Given the description of an element on the screen output the (x, y) to click on. 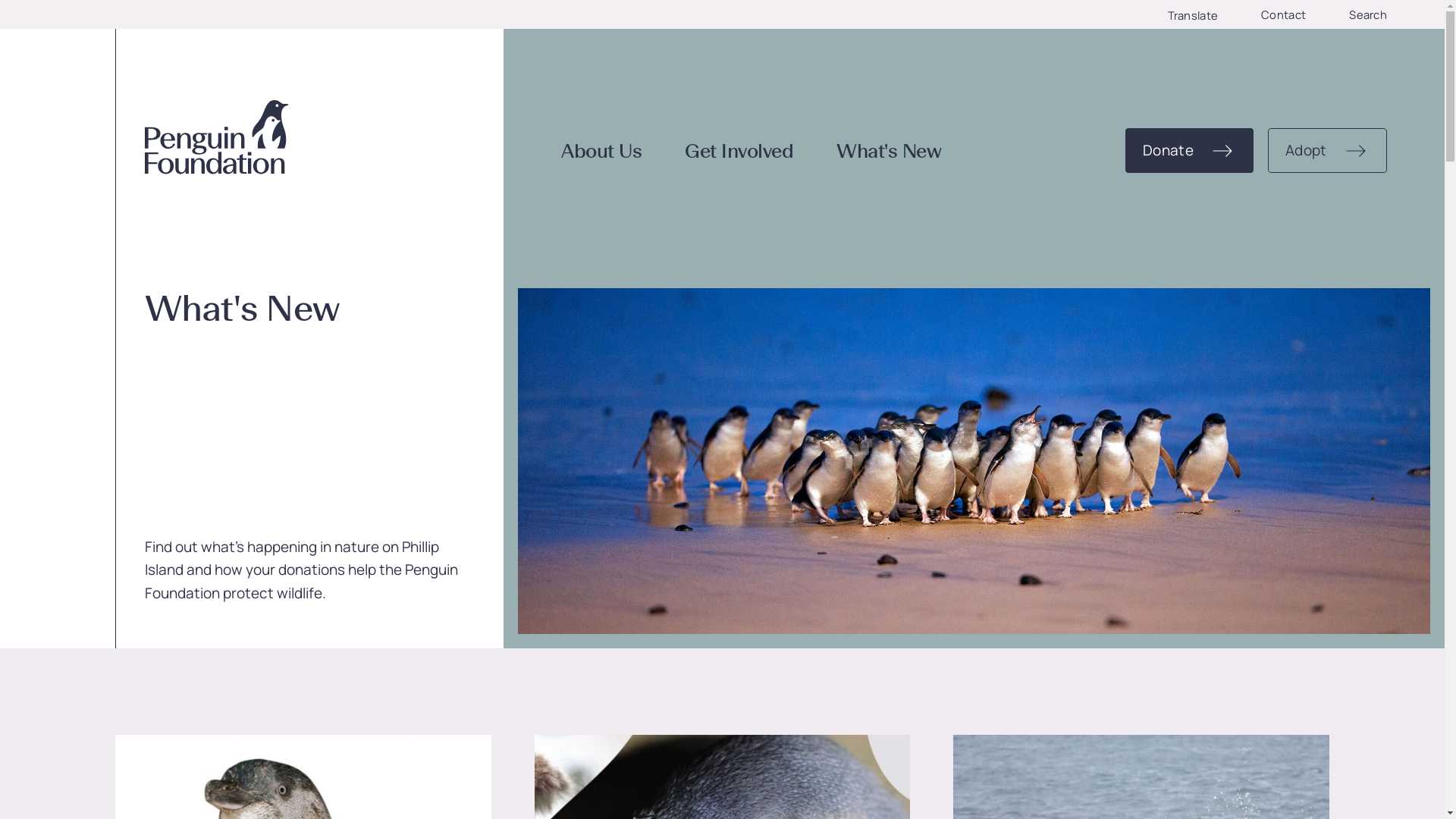
Search Element type: text (1367, 14)
About Us Element type: text (601, 151)
What's New Element type: text (888, 151)
Donate Element type: text (1189, 150)
Contact Element type: text (1283, 14)
Adopt Element type: text (1326, 150)
Get Involved Element type: text (738, 151)
